Given the description of an element on the screen output the (x, y) to click on. 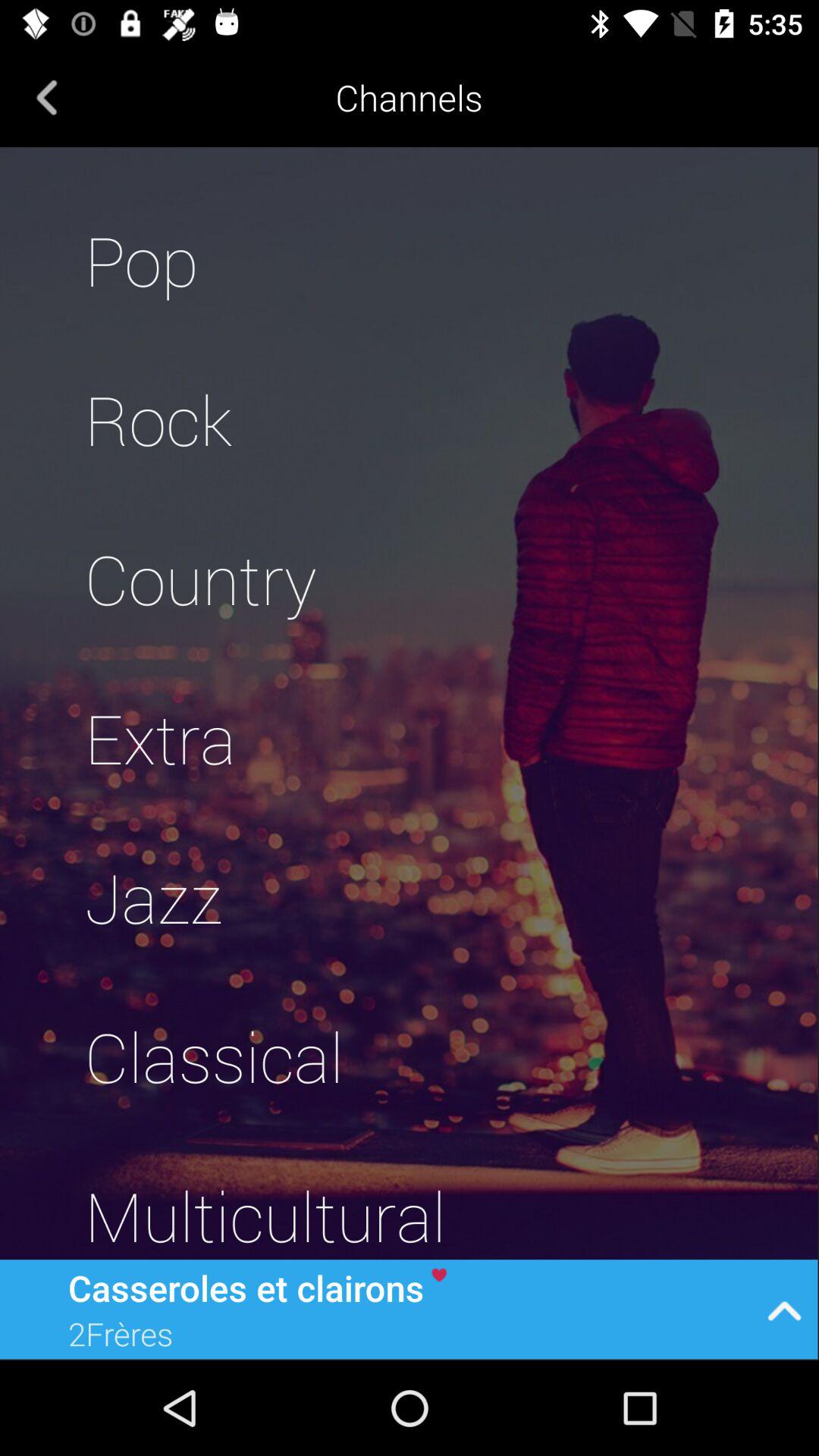
open the item next to channels icon (47, 97)
